Given the description of an element on the screen output the (x, y) to click on. 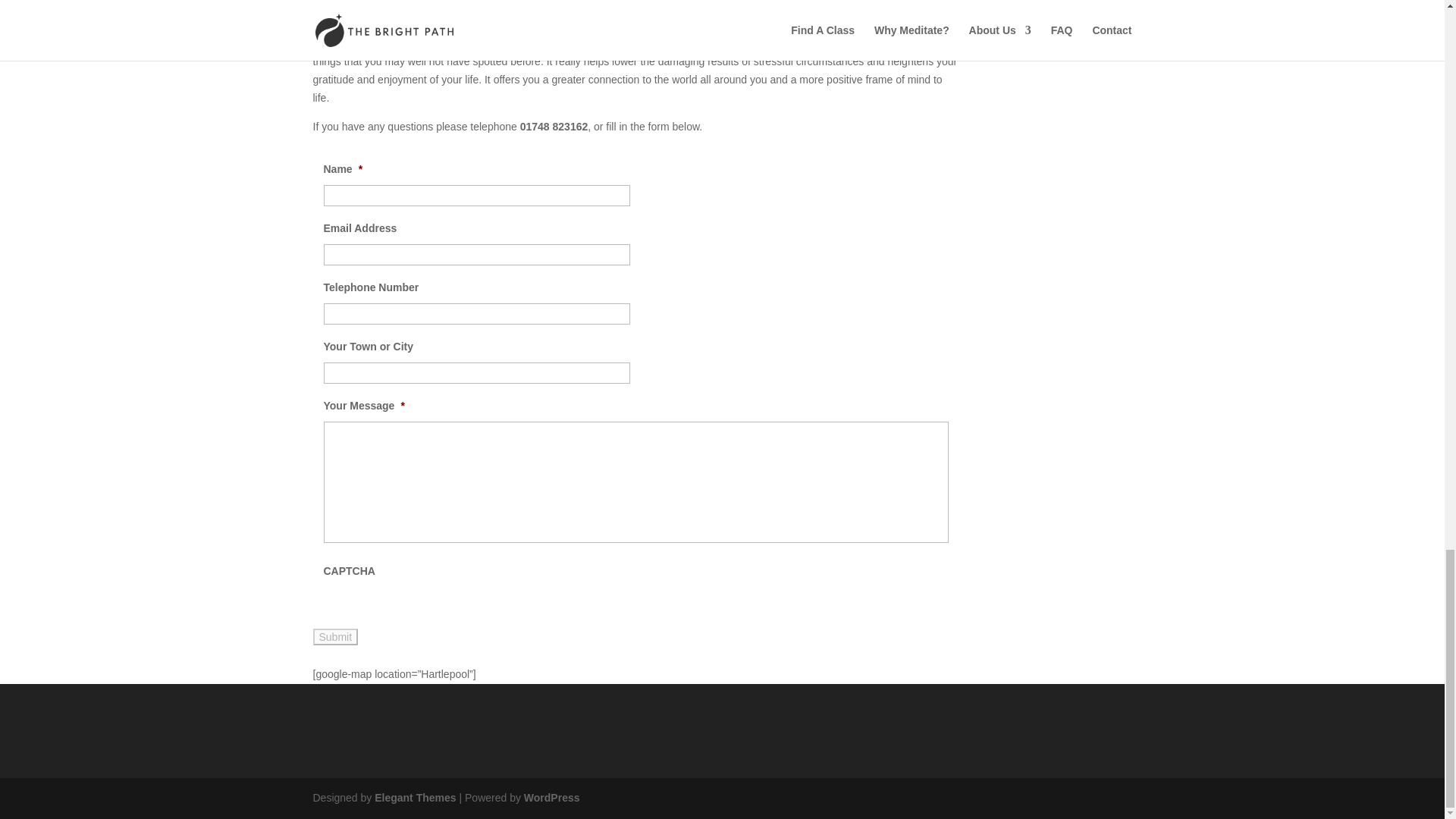
Submit (335, 636)
WordPress (551, 797)
Elegant Themes (414, 797)
Submit (335, 636)
Premium WordPress Themes (414, 797)
